Given the description of an element on the screen output the (x, y) to click on. 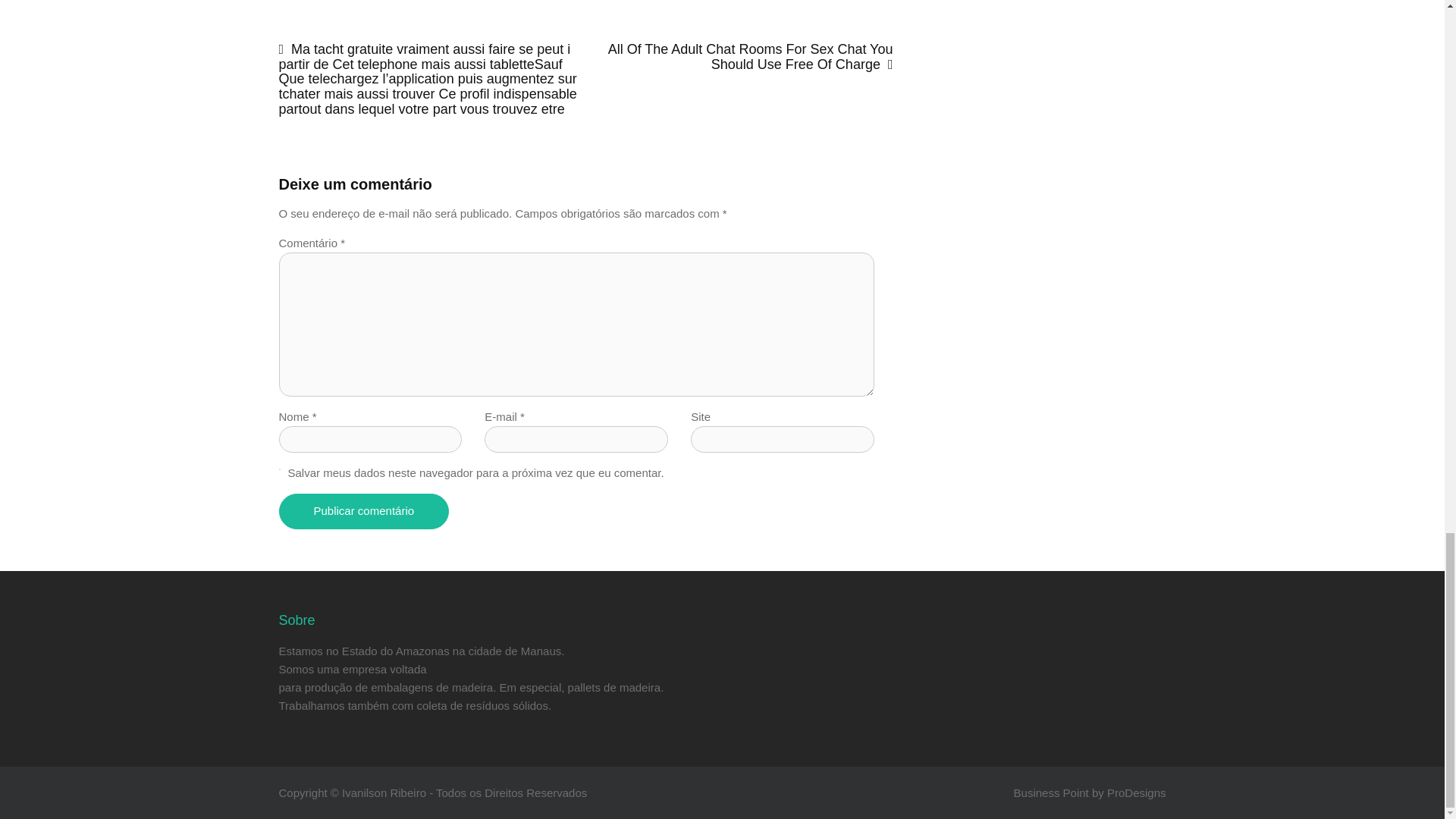
ProDesigns (1136, 792)
